Given the description of an element on the screen output the (x, y) to click on. 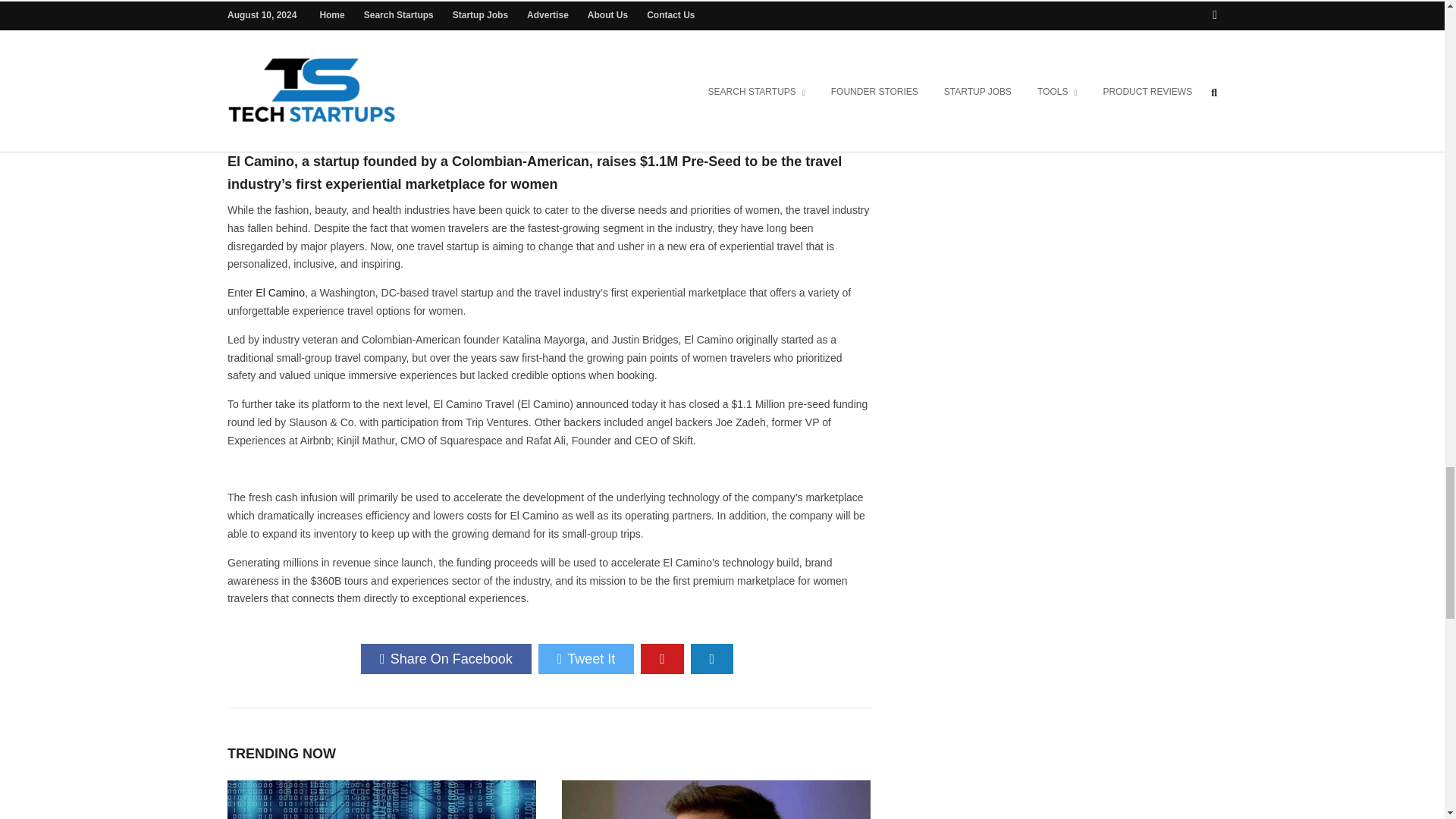
Share On Pinterest (662, 658)
Share On Twitter (586, 658)
Share On Facebook (446, 658)
Share by Email (711, 658)
